Given the description of an element on the screen output the (x, y) to click on. 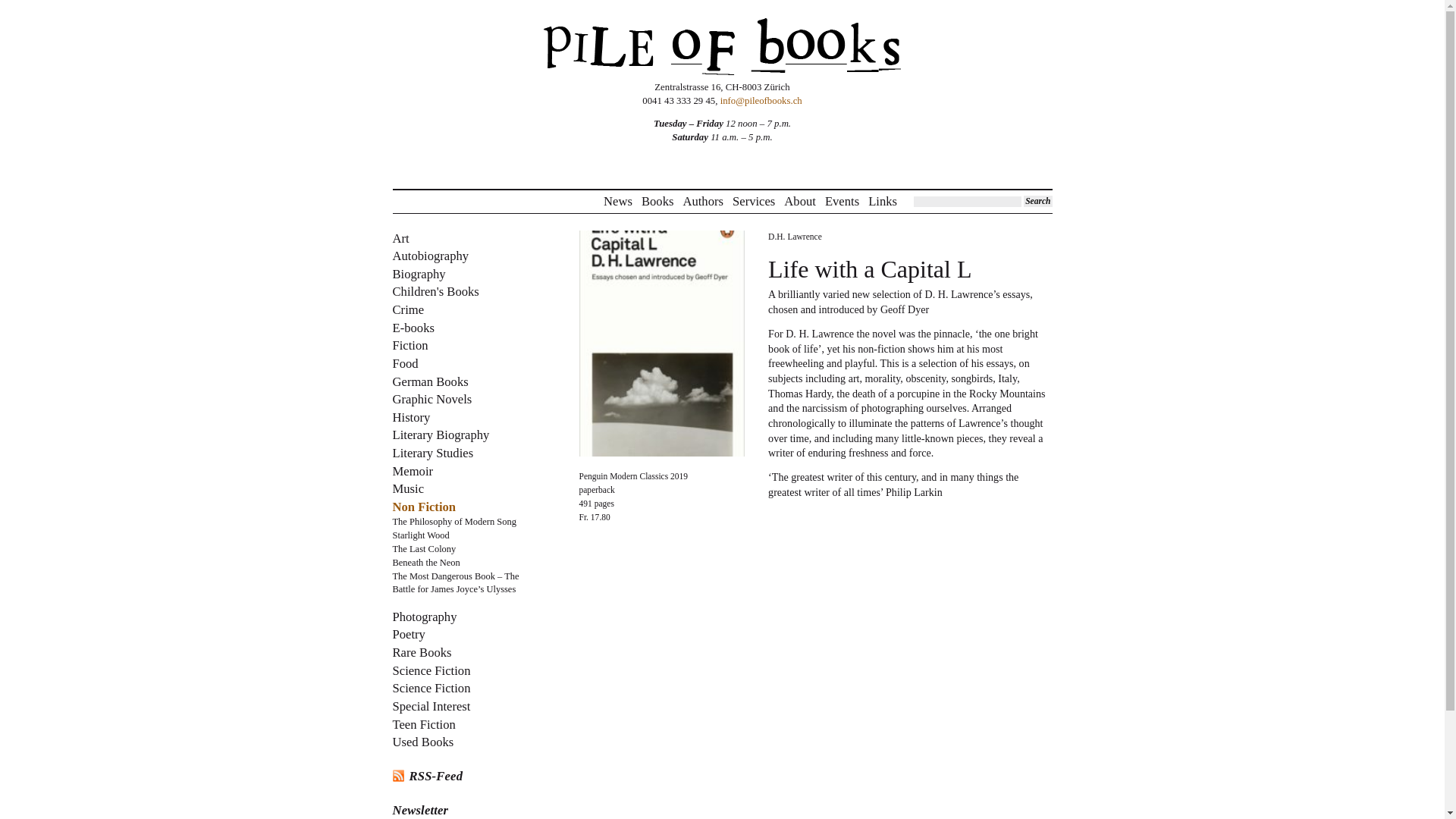
German Books (430, 381)
Children's Books (436, 291)
Rare Books (422, 652)
Memoir (413, 471)
Food (406, 363)
Fiction (410, 345)
Used Books (423, 741)
News (617, 201)
Special Interest (431, 706)
Teen Fiction (424, 724)
